Given the description of an element on the screen output the (x, y) to click on. 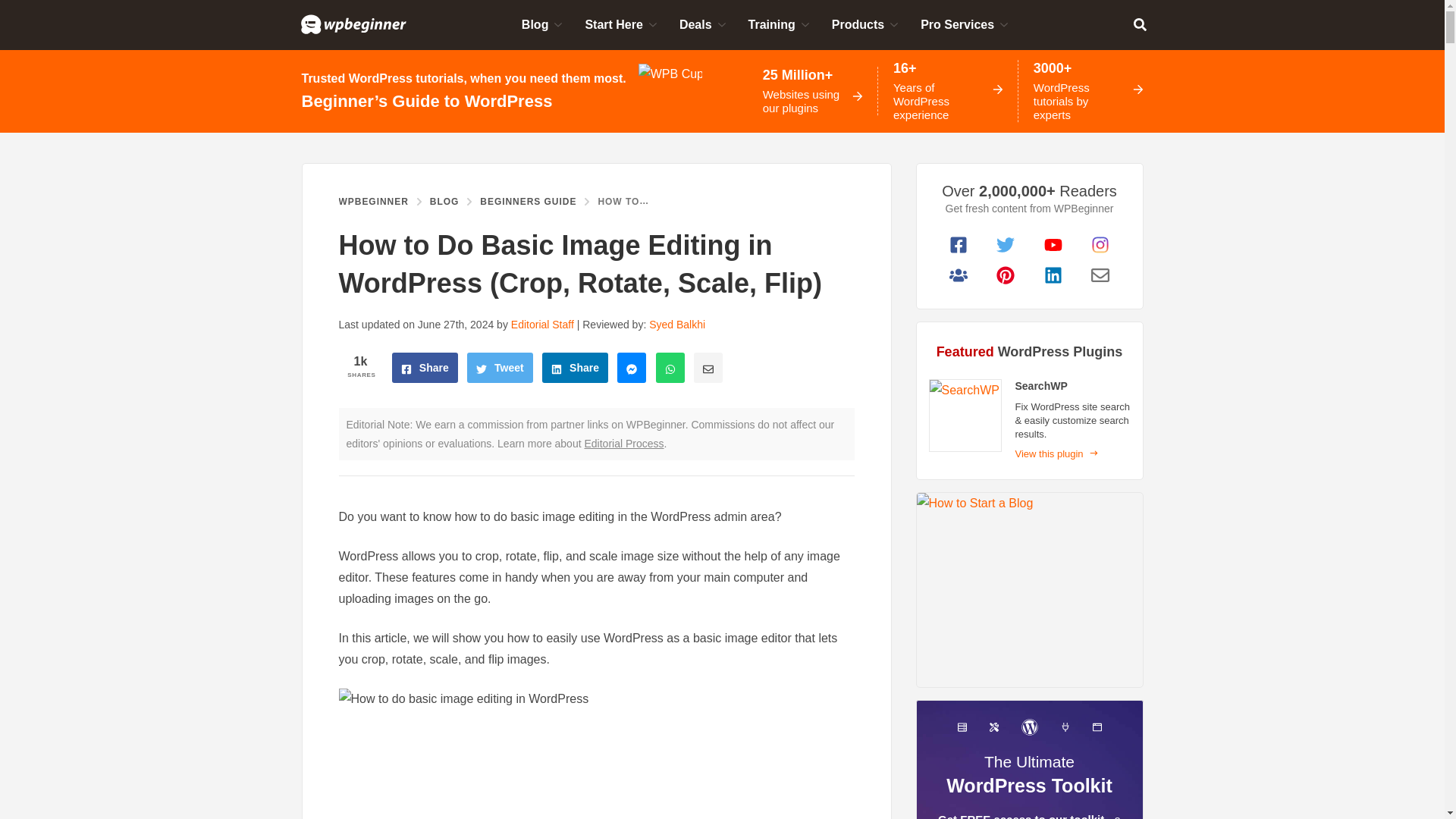
Go to WPBeginner. (372, 201)
WPBeginner - Beginners Guide for WordPress (353, 24)
WPBeginner - WordPress Tutorials for Beginners (353, 24)
Blog (541, 24)
Go to Blog. (444, 201)
Deals (701, 24)
Start Here (619, 24)
